Given the description of an element on the screen output the (x, y) to click on. 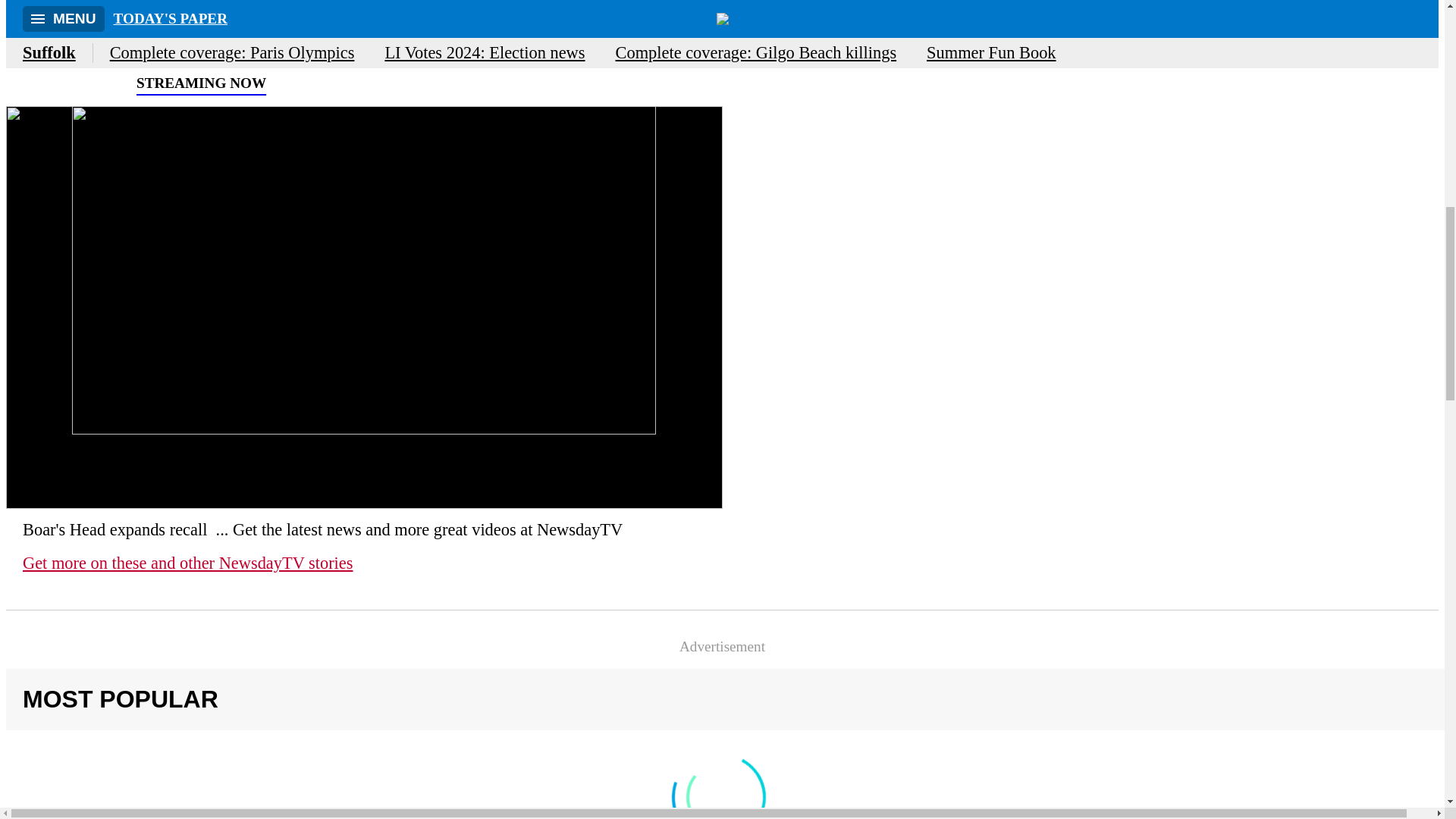
Get more on these and other NewsdayTV stories (187, 562)
STREAMING NOW (142, 86)
